Given the description of an element on the screen output the (x, y) to click on. 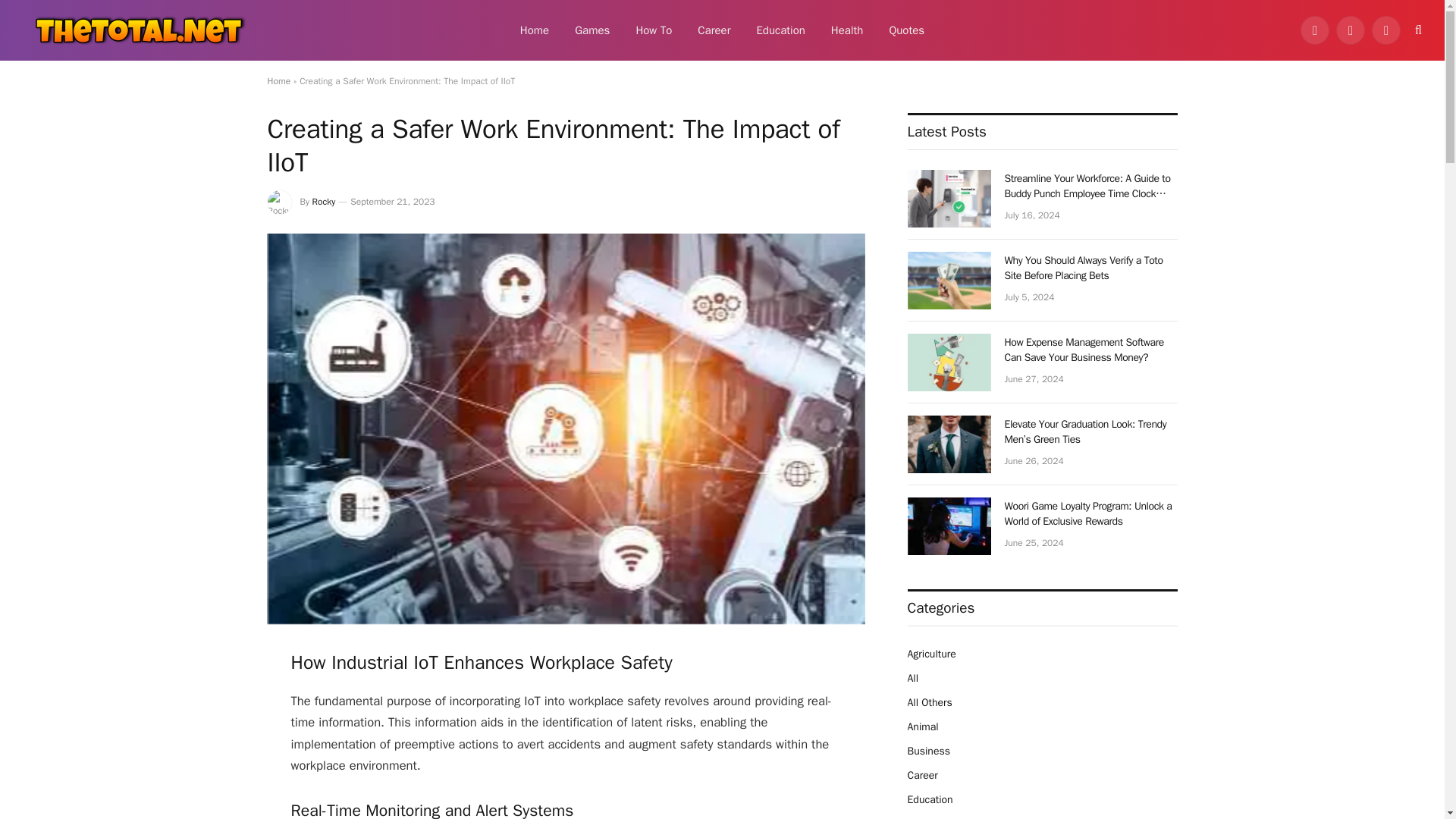
Twitter (1350, 30)
Quotes (906, 30)
How To (653, 30)
Home (277, 80)
Posts by Rocky (324, 201)
Games (592, 30)
Health (847, 30)
Rocky (324, 201)
Instagram (1385, 30)
Facebook (1314, 30)
Career (713, 30)
Education (779, 30)
TheTotal.Net (136, 30)
Home (534, 30)
